Given the description of an element on the screen output the (x, y) to click on. 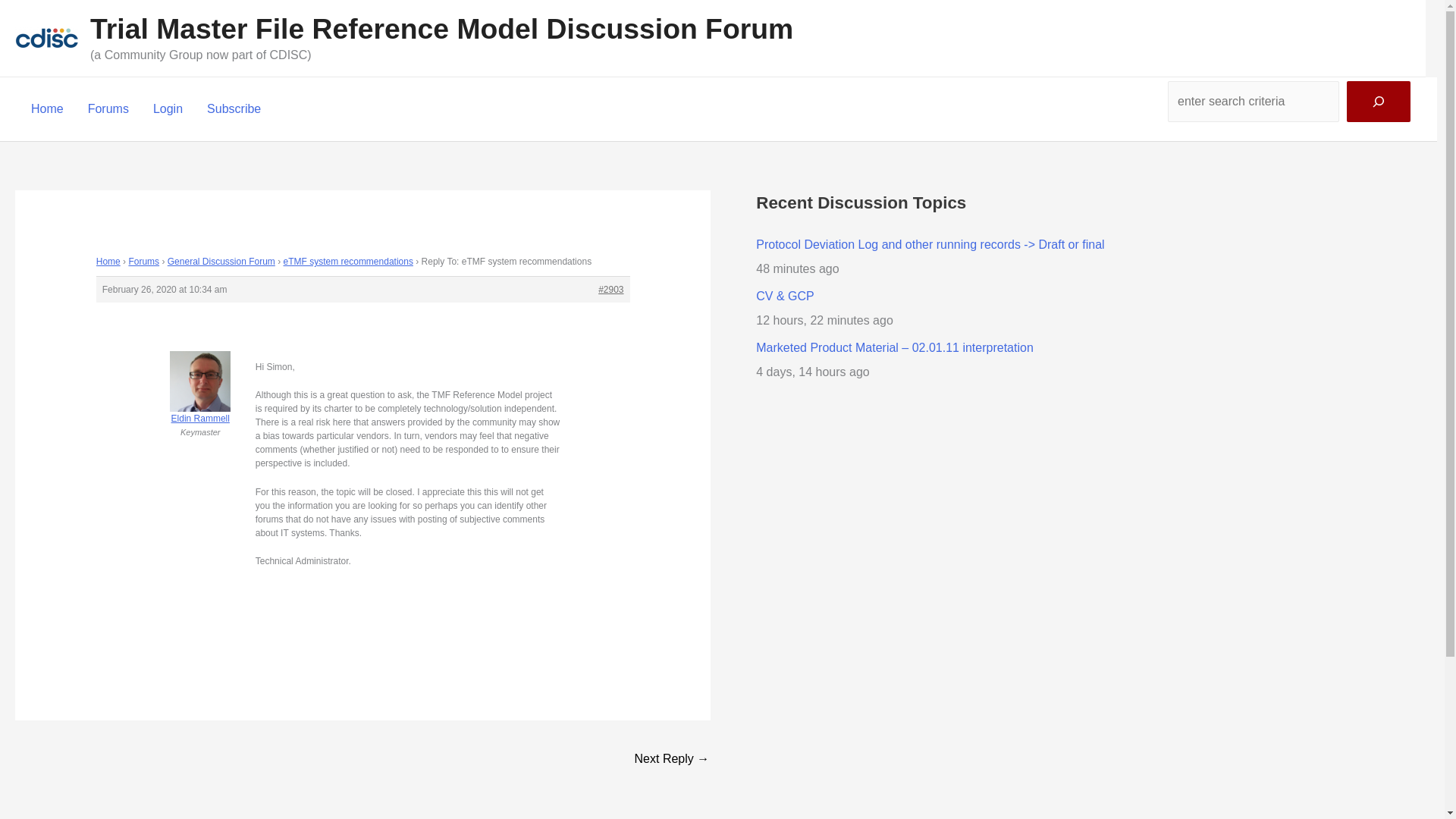
General Discussion Forum (221, 261)
Forums (143, 261)
Login (168, 108)
Home (108, 261)
eTMF system recommendations (348, 261)
View Eldin Rammell's profile (200, 400)
Subscribe (234, 108)
Eldin Rammell (200, 400)
Home (46, 108)
Forums (108, 108)
Trial Master File Reference Model Discussion Forum (441, 29)
